Given the description of an element on the screen output the (x, y) to click on. 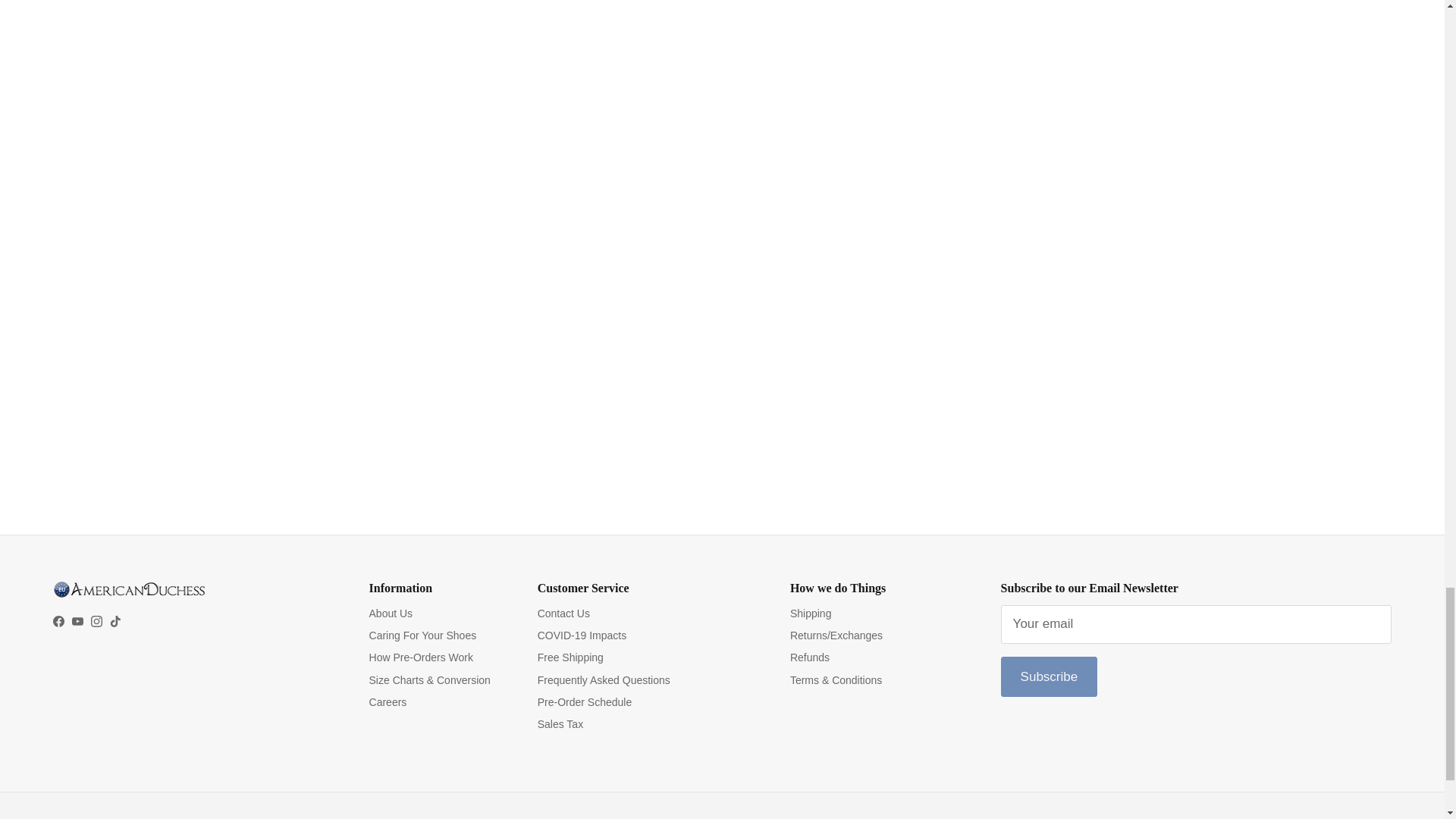
American Duchess - Europe on YouTube (76, 621)
American Duchess - Europe on Instagram (95, 621)
American Duchess - Europe on TikTok (115, 621)
American Duchess - Europe on Facebook (58, 621)
